Given the description of an element on the screen output the (x, y) to click on. 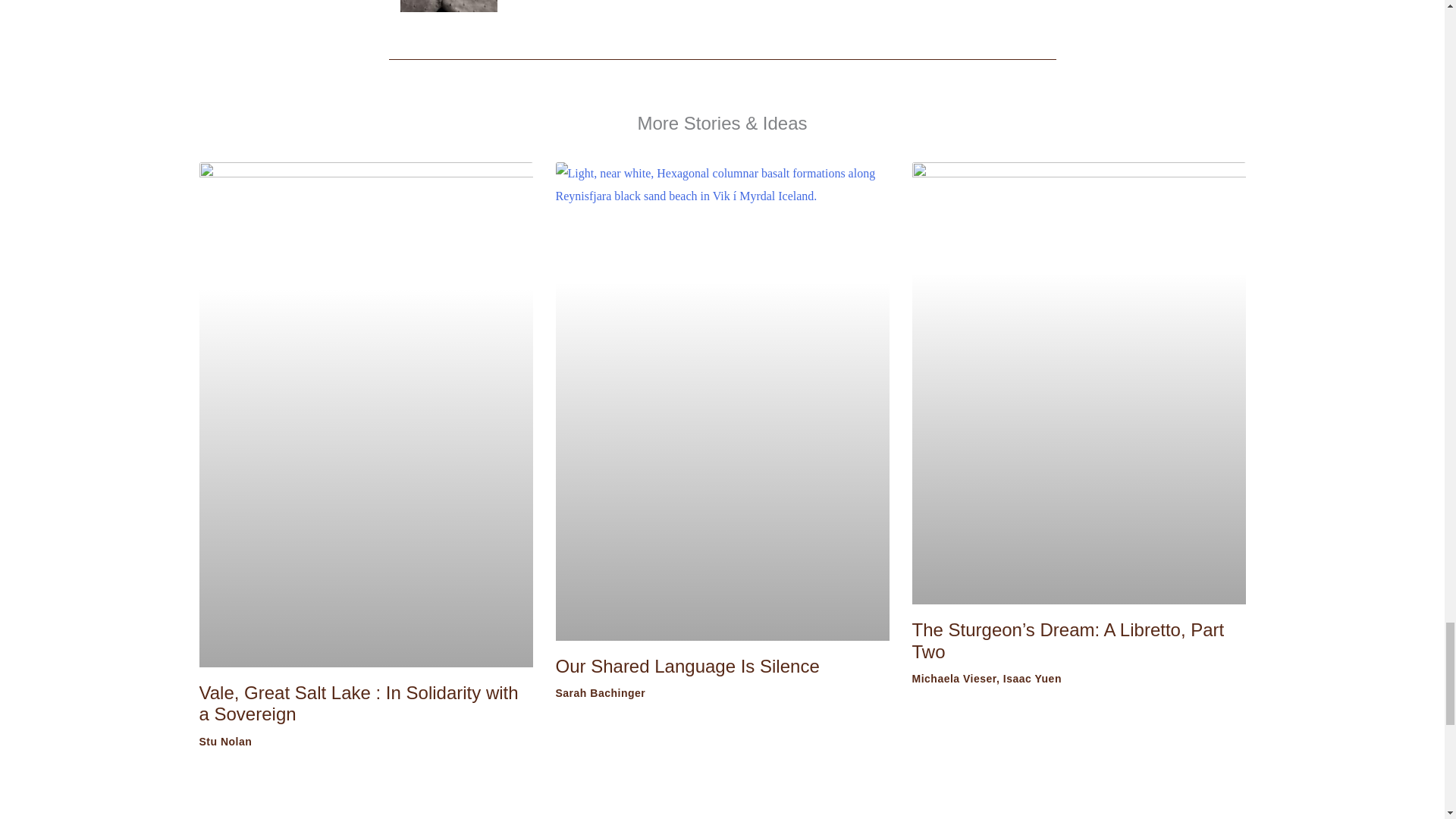
Our Shared Language Is Silence (686, 666)
Vale, Great Salt Lake : In Solidarity with a Sovereign (358, 703)
